Given the description of an element on the screen output the (x, y) to click on. 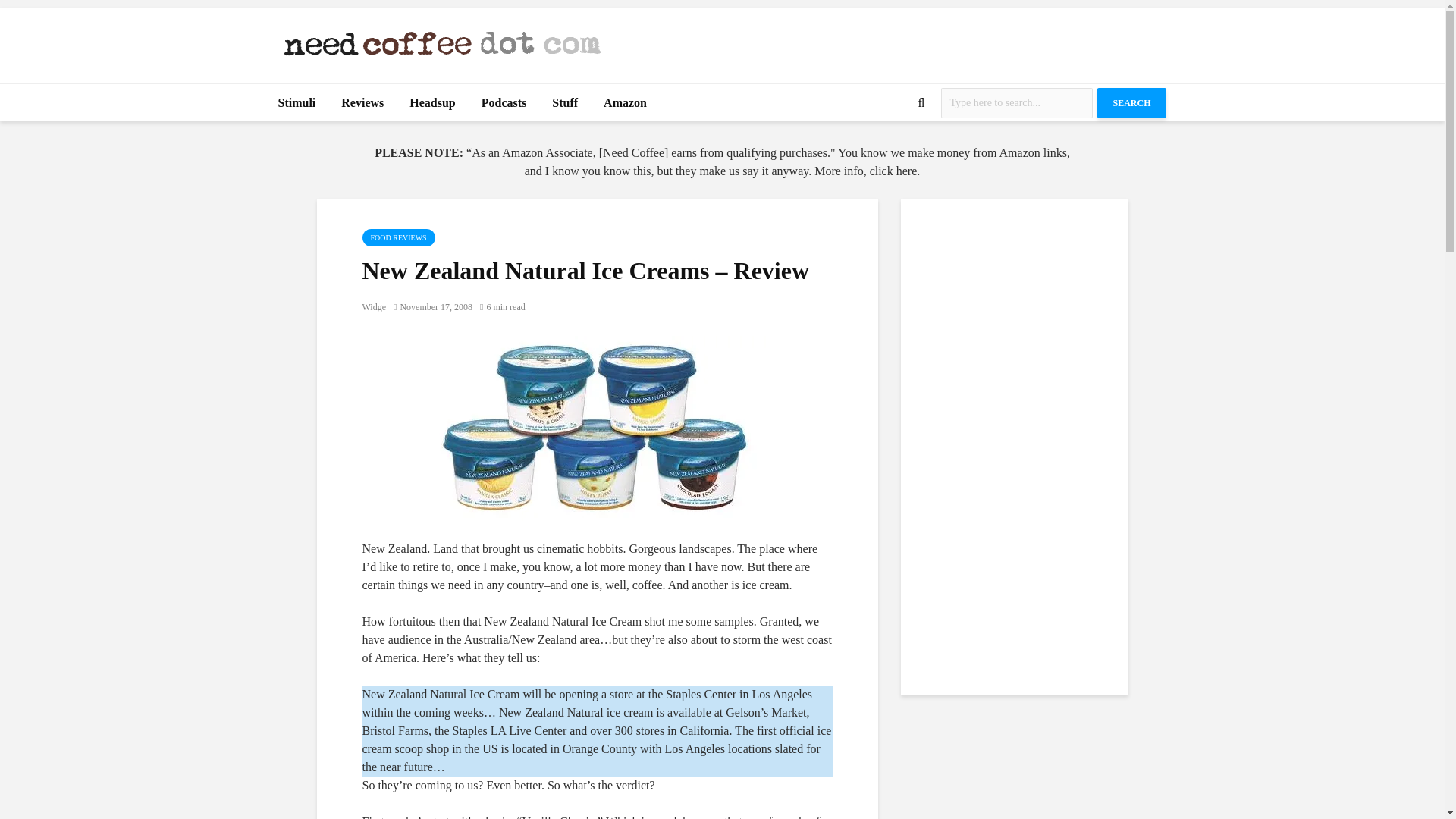
Amazon (625, 103)
Widge (374, 307)
Podcasts (504, 103)
SEARCH (1131, 102)
New Zealand Natural Ice Creams (597, 428)
Reviews (362, 103)
Headsup (431, 103)
Advertisement (890, 41)
Stimuli (296, 103)
Stuff (564, 103)
